Given the description of an element on the screen output the (x, y) to click on. 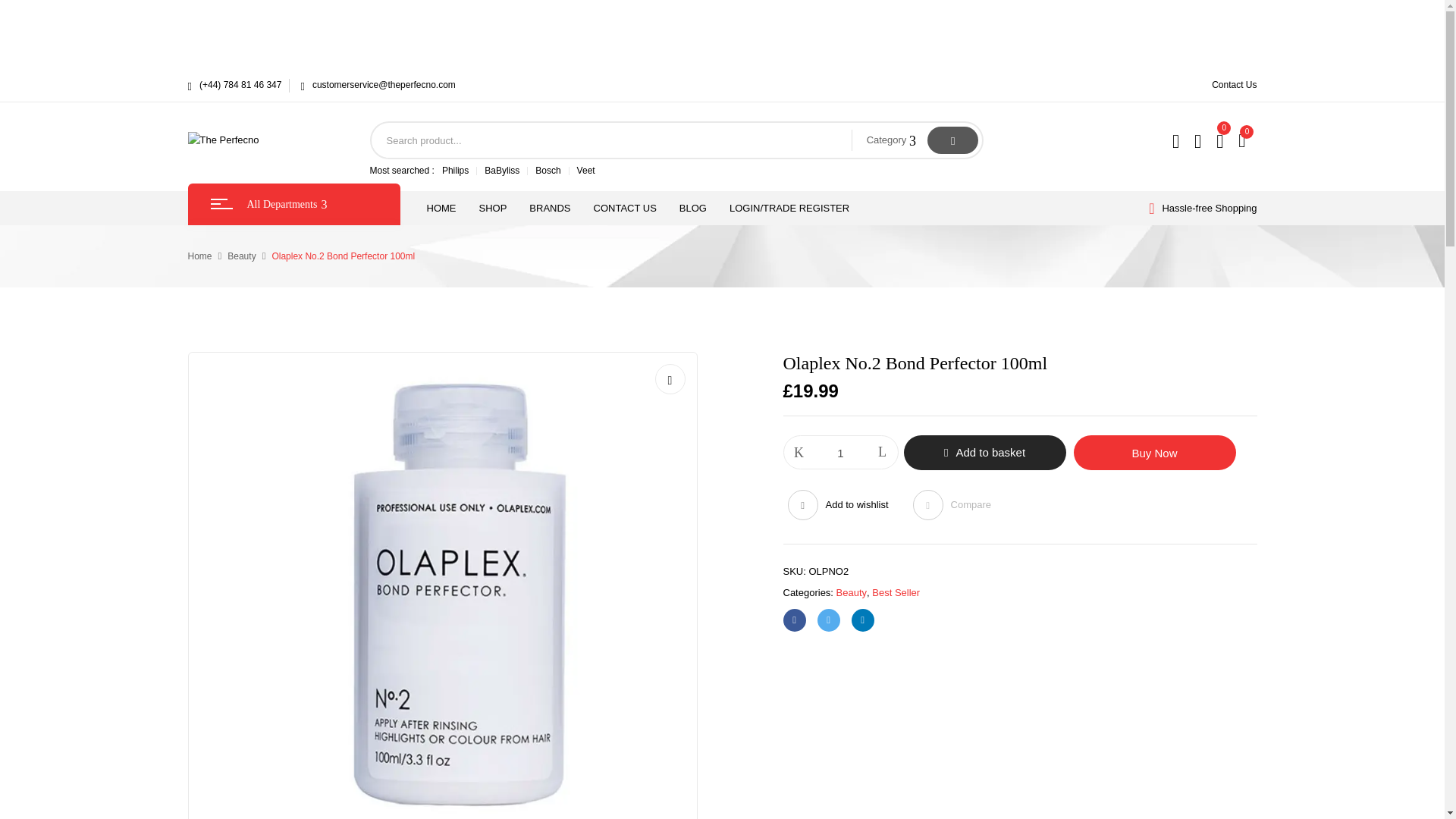
BaByliss (501, 170)
Veet (585, 170)
1 (841, 452)
Contact Us (1233, 84)
Philips (455, 170)
Bosch (547, 170)
search (952, 139)
0 (1244, 139)
